Given the description of an element on the screen output the (x, y) to click on. 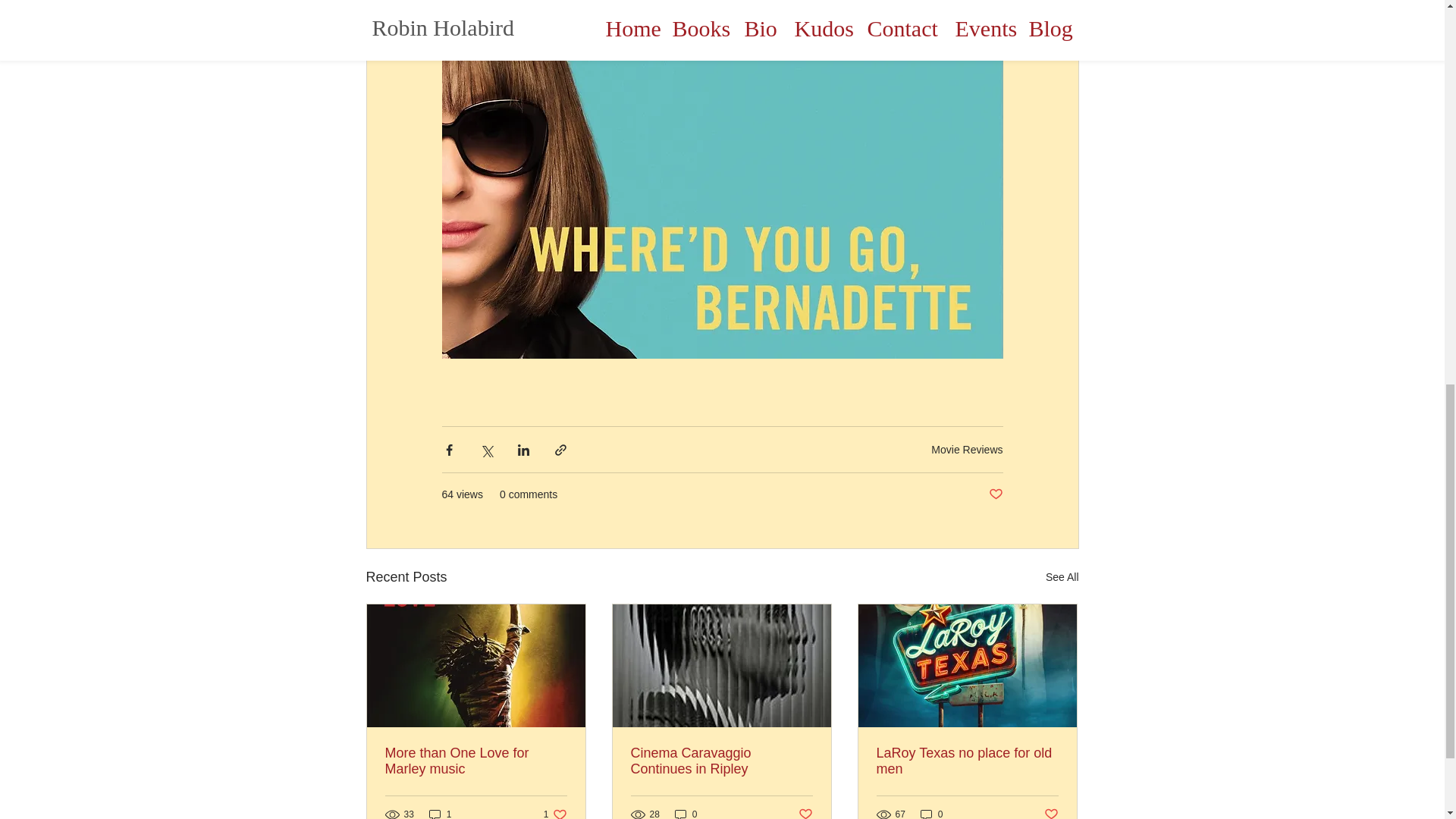
Cinema Caravaggio Continues in Ripley (721, 761)
Movie Reviews (967, 449)
0 (931, 813)
Post not marked as liked (1050, 812)
LaRoy Texas no place for old men (555, 813)
See All (967, 761)
More than One Love for Marley music (1061, 577)
Post not marked as liked (476, 761)
1 (995, 494)
